Given the description of an element on the screen output the (x, y) to click on. 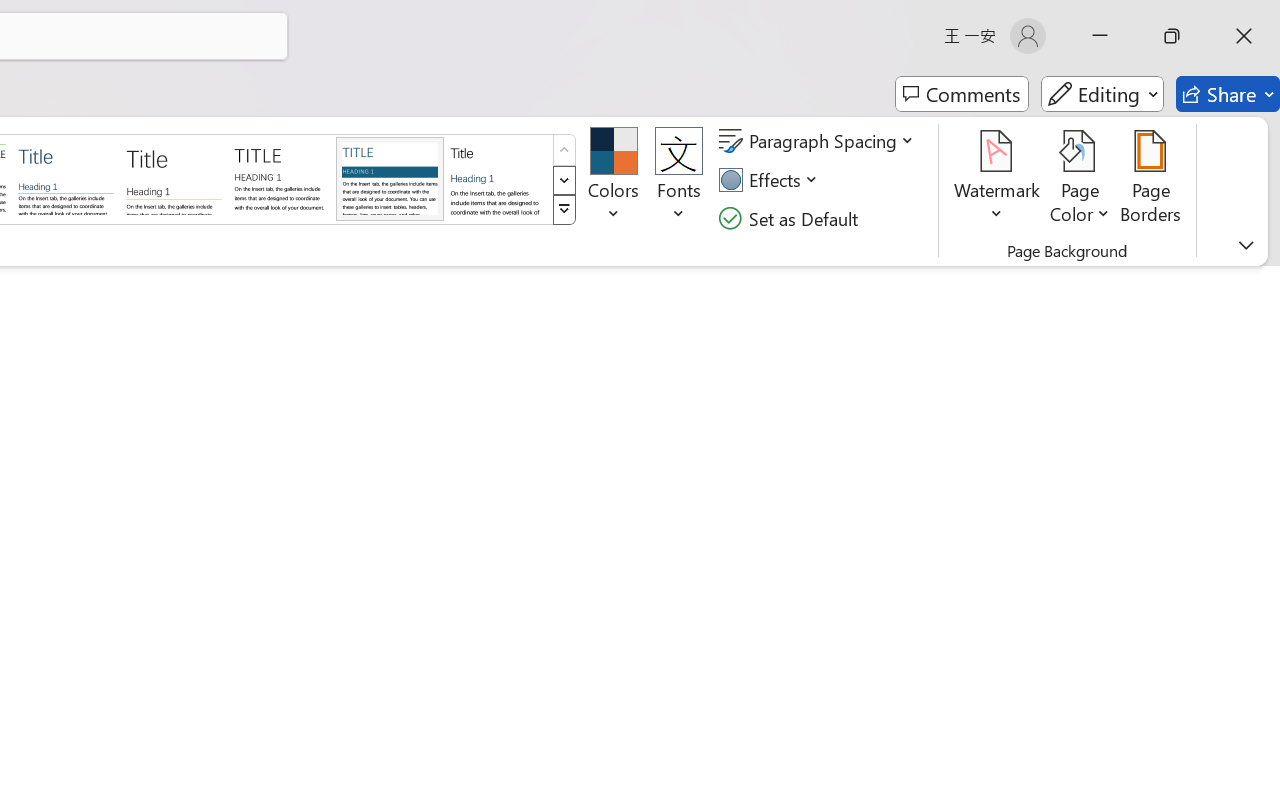
Row up (564, 150)
Set as Default (791, 218)
Fonts (678, 179)
Lines (Simple) (65, 178)
Lines (Stylish) (173, 178)
Colors (613, 179)
Ribbon Display Options (1246, 245)
Shaded (389, 178)
Word (497, 178)
